Given the description of an element on the screen output the (x, y) to click on. 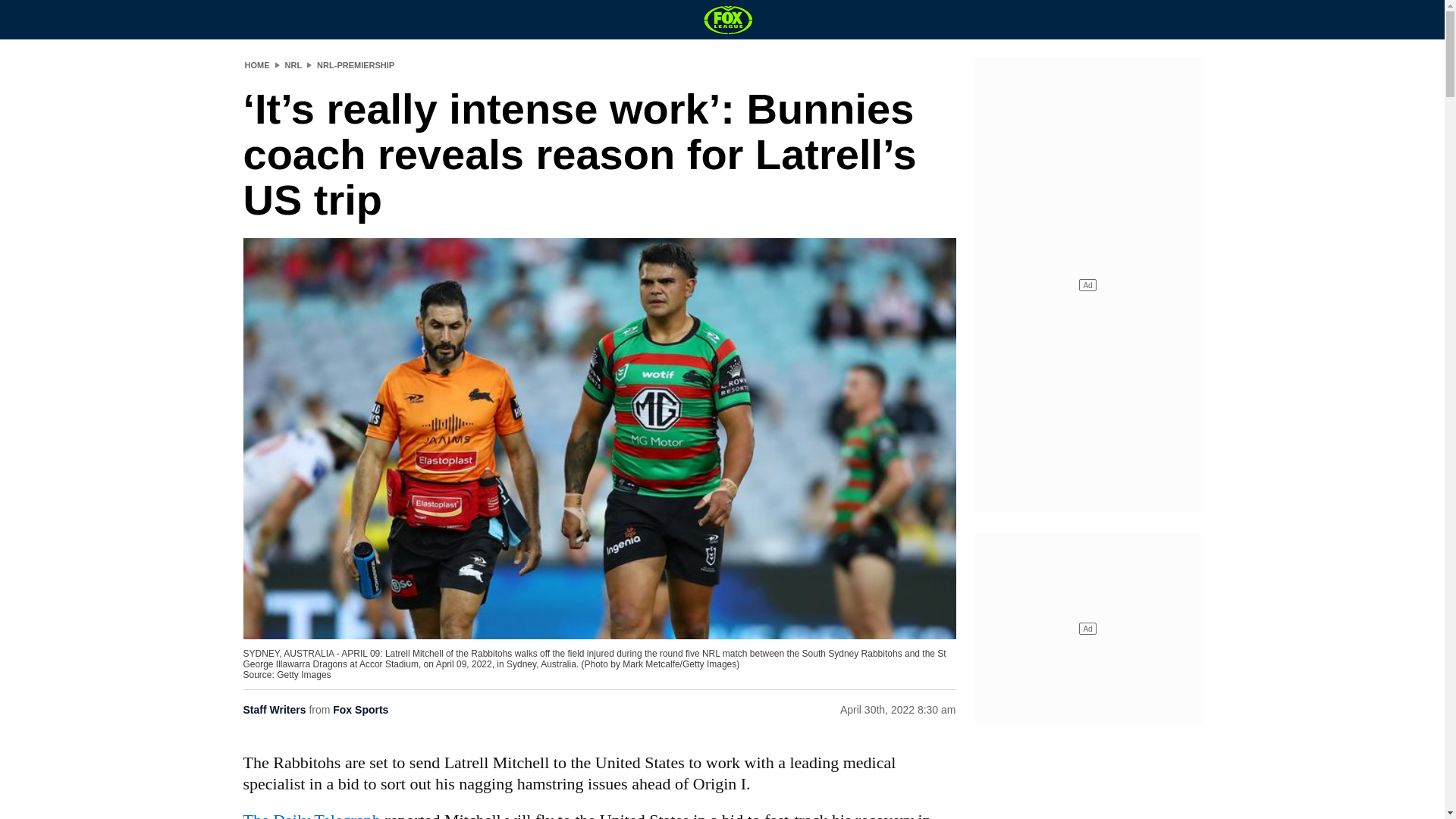
NRL-PREMIERSHIP (355, 64)
The Daily Telegraph (311, 814)
NRL (293, 64)
HOME (256, 64)
